Given the description of an element on the screen output the (x, y) to click on. 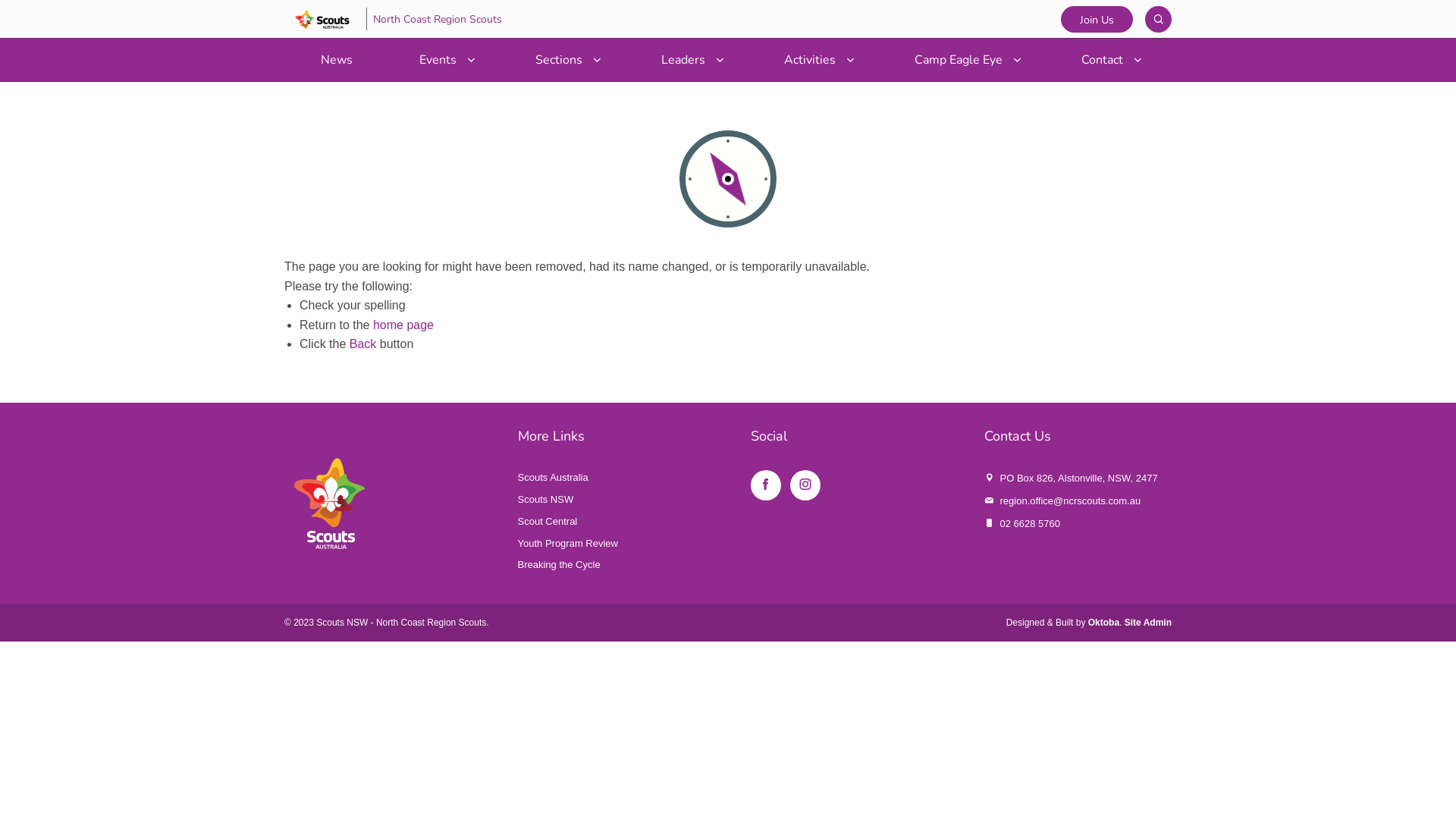
Youth Program Review Element type: text (567, 543)
Site Admin Element type: text (1147, 622)
region.office@ncrscouts.com.au Element type: text (1069, 500)
Scout Central Element type: text (547, 521)
Oktoba Element type: text (1103, 622)
Back Element type: text (362, 343)
Join Us Element type: text (1096, 19)
Contact Element type: text (1108, 59)
Camp Eagle Eye Element type: text (964, 59)
Scouts Australia Element type: text (552, 477)
News Element type: text (336, 59)
Breaking the Cycle Element type: text (558, 564)
home page Element type: text (403, 324)
PO Box 826, Alstonville, NSW, 2477 Element type: text (1078, 477)
Activities Element type: text (815, 59)
Leaders Element type: text (688, 59)
02 6628 5760 Element type: text (1029, 523)
Events Element type: text (443, 59)
Scouts NSW Element type: text (545, 499)
Sections Element type: text (564, 59)
